Given the description of an element on the screen output the (x, y) to click on. 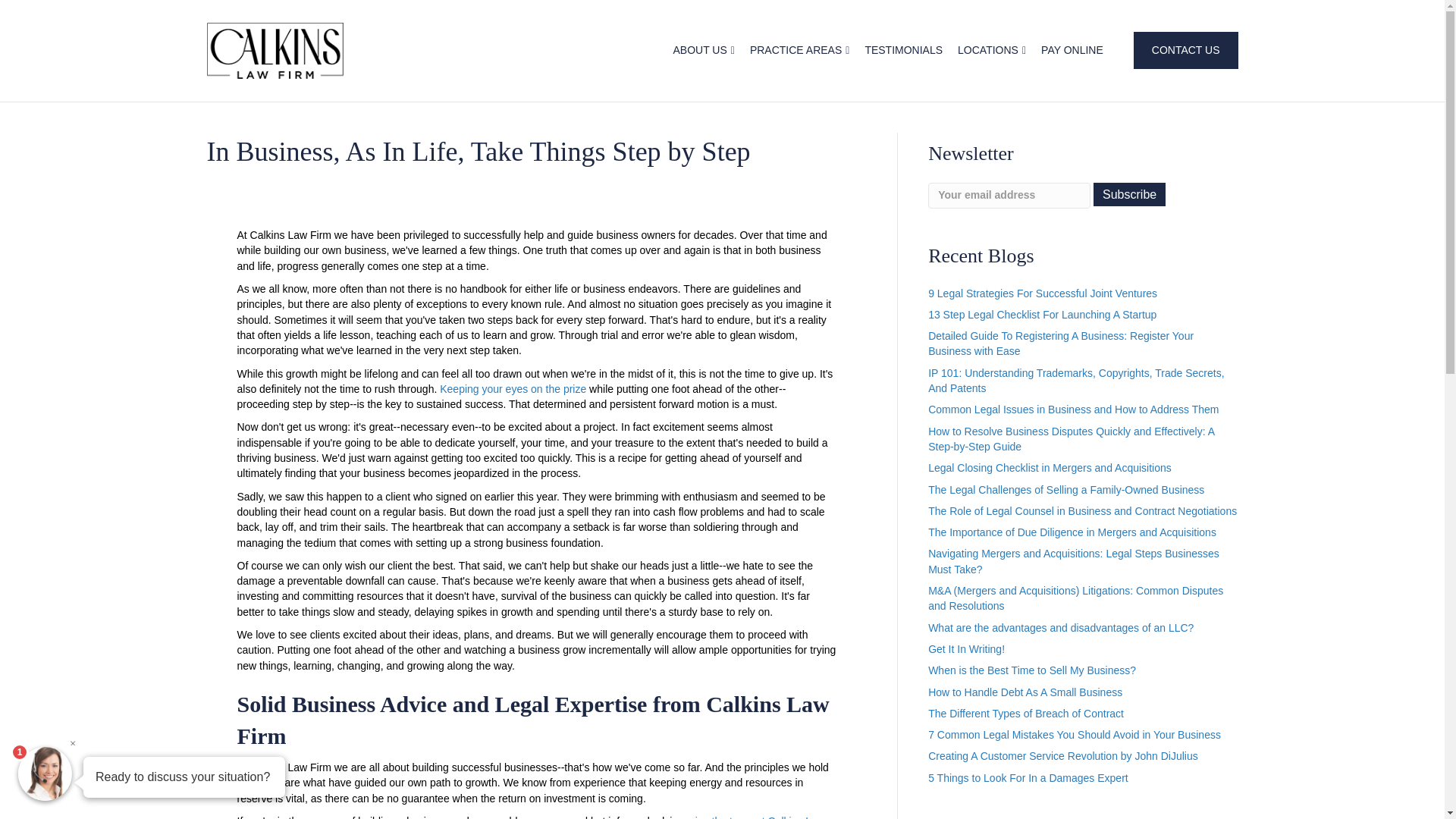
ABOUT US (703, 50)
PRACTICE AREAS (799, 50)
Subscribe (1129, 194)
